Given the description of an element on the screen output the (x, y) to click on. 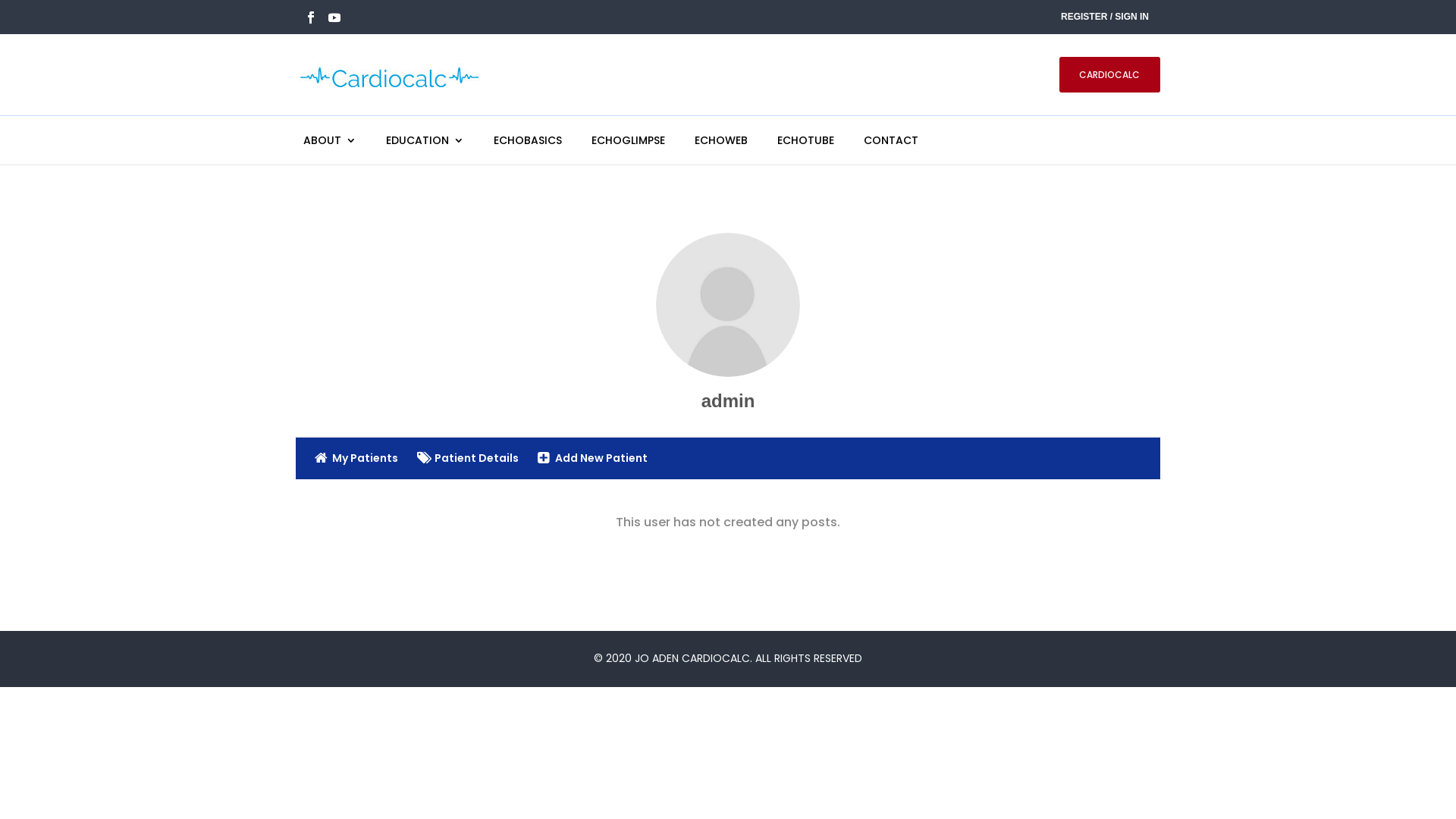
admin Element type: hover (727, 304)
EDUCATION Element type: text (424, 139)
CONTACT Element type: text (890, 139)
ECHOGLIMPSE Element type: text (628, 139)
ECHOWEB Element type: text (720, 139)
CARDIOCALC Element type: text (1109, 74)
My Patients Element type: text (356, 458)
ECHOTUBE Element type: text (805, 139)
ABOUT Element type: text (329, 139)
ECHOBASICS Element type: text (527, 139)
REGISTER / SIGN IN Element type: text (1104, 18)
Patient Details Element type: text (467, 458)
admin Element type: text (728, 400)
Add New Patient Element type: text (592, 458)
